Given the description of an element on the screen output the (x, y) to click on. 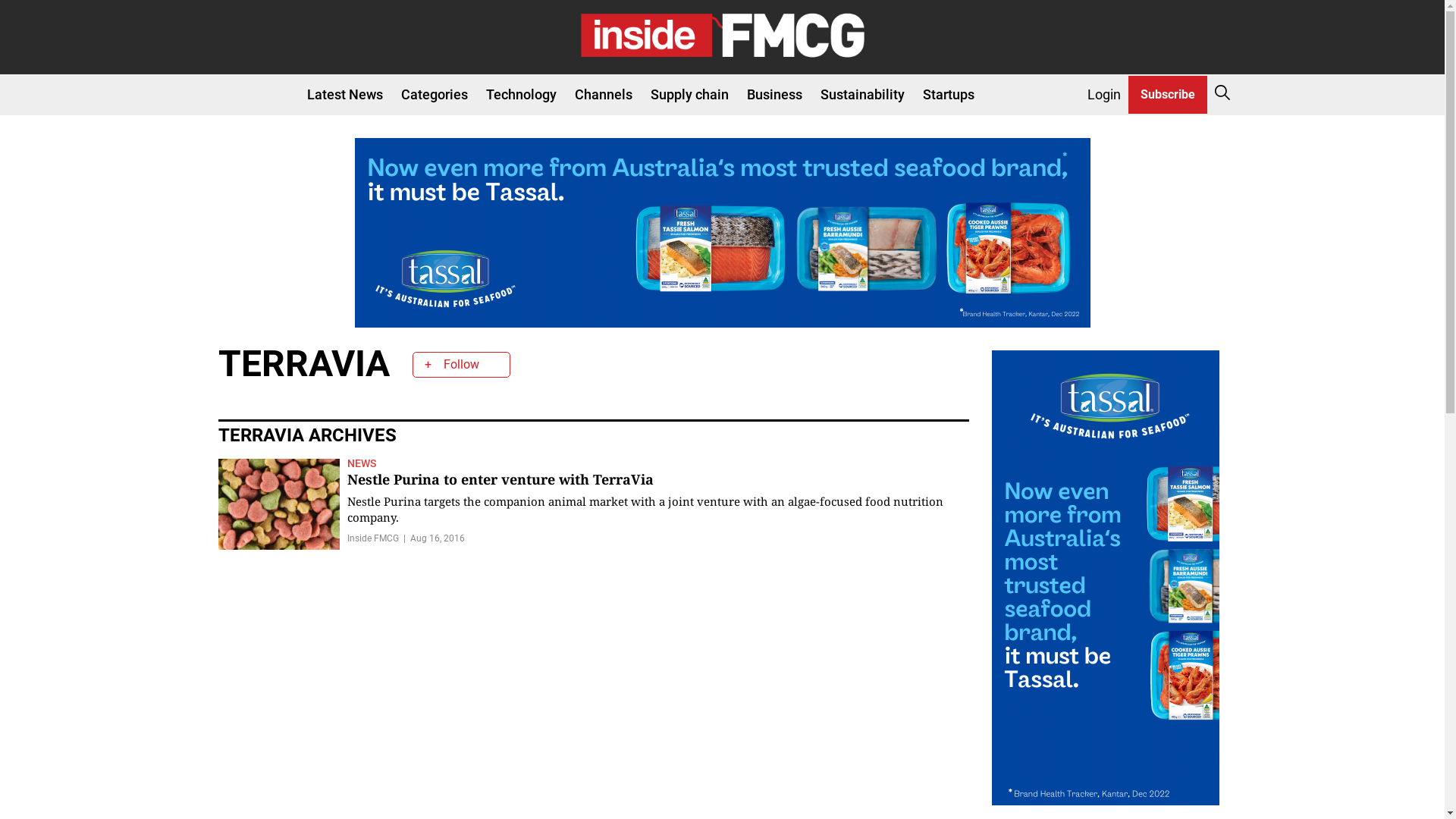
Sustainability Element type: text (862, 94)
Inside FMCG Element type: text (378, 538)
Technology Element type: text (520, 94)
Business Element type: text (774, 94)
3rd party ad content Element type: hover (722, 232)
Nestle Purina to enter venture with TerraVia Element type: text (500, 479)
Categories Element type: text (434, 94)
Channels Element type: text (603, 94)
Login Element type: text (1103, 94)
Search Element type: text (1390, 159)
Startups Element type: text (948, 94)
Subscribe Element type: text (1167, 94)
3rd party ad content Element type: hover (1105, 577)
Supply chain Element type: text (689, 94)
NEWS Element type: text (361, 463)
Latest News Element type: text (345, 94)
